Given the description of an element on the screen output the (x, y) to click on. 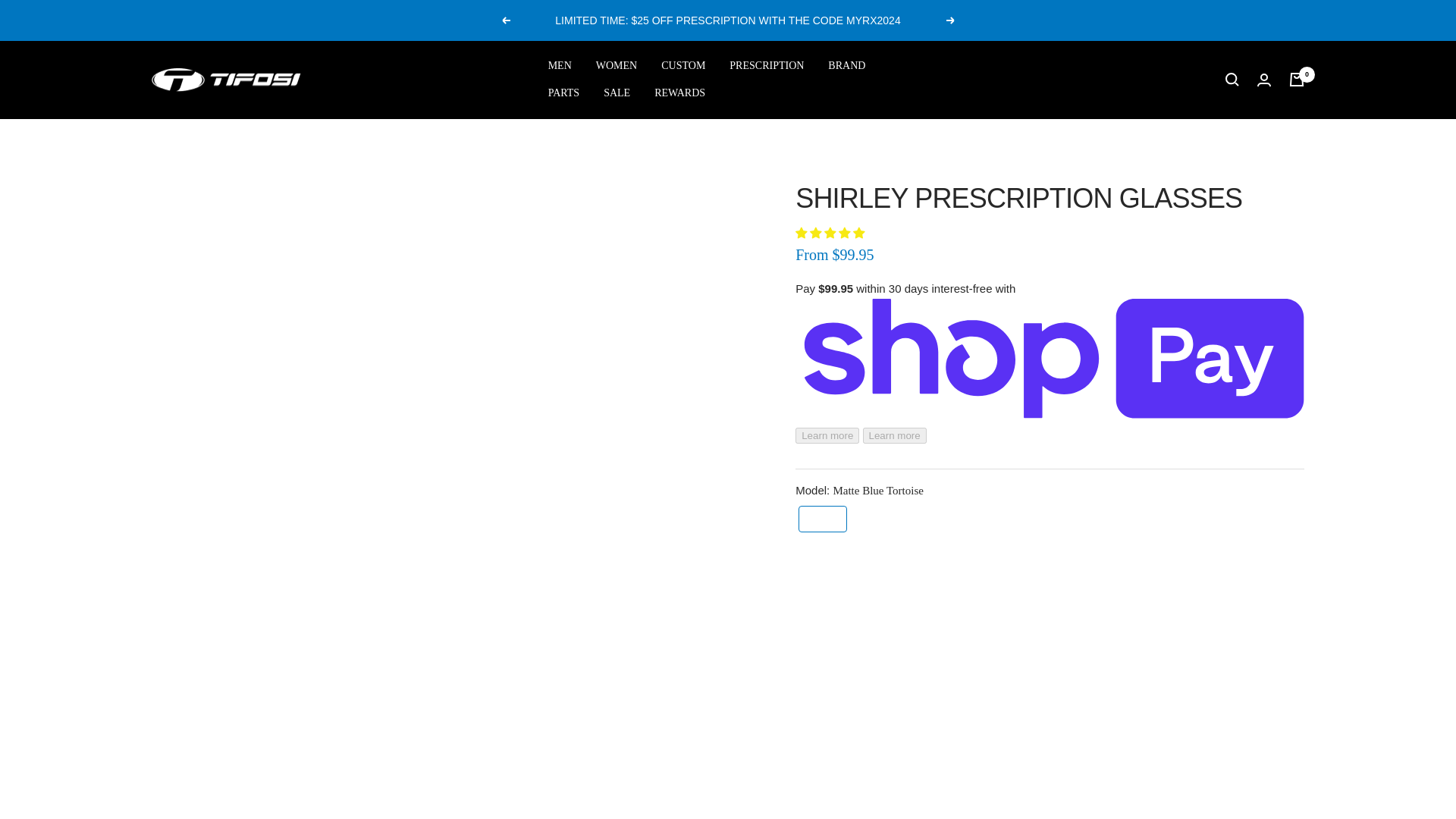
Previous (504, 20)
WOMEN (616, 65)
0 (1296, 79)
Tifosi Optics (226, 80)
Next (950, 20)
PARTS (563, 93)
CUSTOM (682, 65)
MEN (560, 65)
BRAND (846, 65)
REWARDS (678, 93)
PRESCRIPTION (766, 65)
account-Login (1264, 79)
SALE (617, 93)
